Given the description of an element on the screen output the (x, y) to click on. 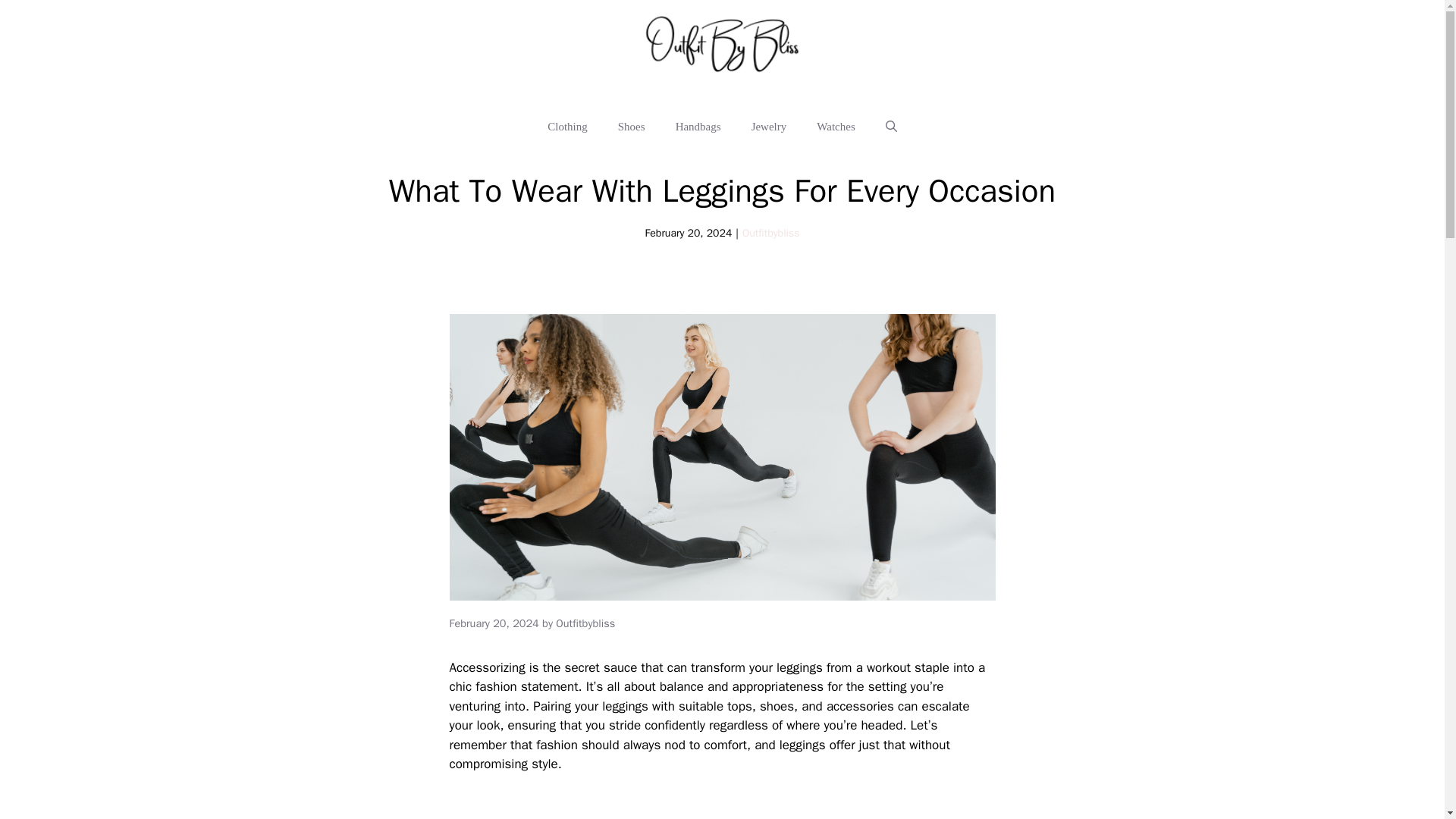
Shoes (631, 126)
Watches (835, 126)
Outfitbybliss (585, 622)
Clothing (567, 126)
Advertisement (736, 806)
Outfitbybliss (770, 232)
Handbags (698, 126)
Jewelry (769, 126)
View all posts by Outfitbybliss (585, 622)
